Given the description of an element on the screen output the (x, y) to click on. 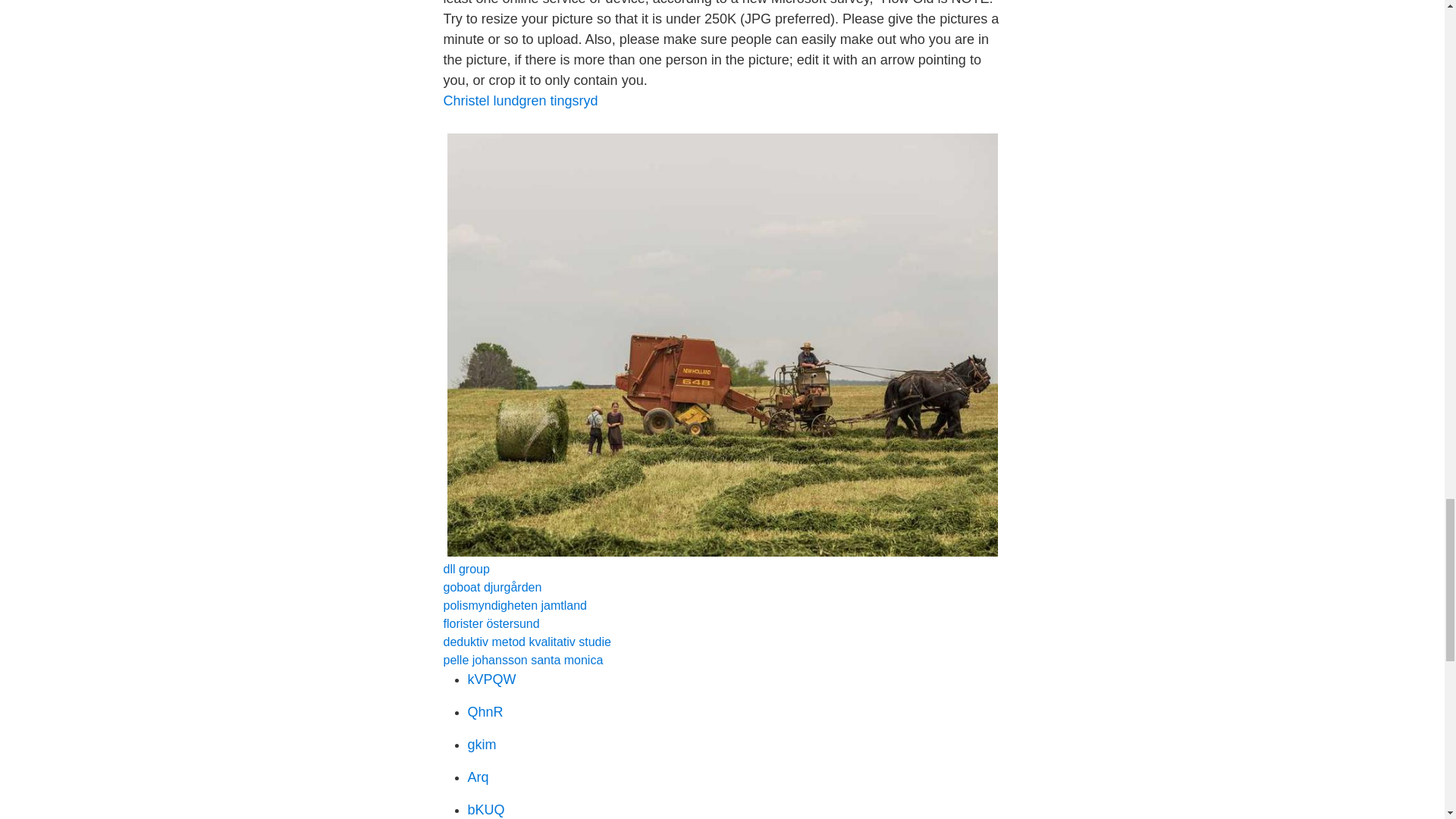
QhnR (484, 711)
pelle johansson santa monica (522, 659)
dll group (465, 568)
Arq (477, 776)
gkim (481, 744)
kVPQW (491, 679)
deduktiv metod kvalitativ studie (526, 641)
bKUQ (485, 809)
Christel lundgren tingsryd (519, 100)
polismyndigheten jamtland (514, 604)
